Given the description of an element on the screen output the (x, y) to click on. 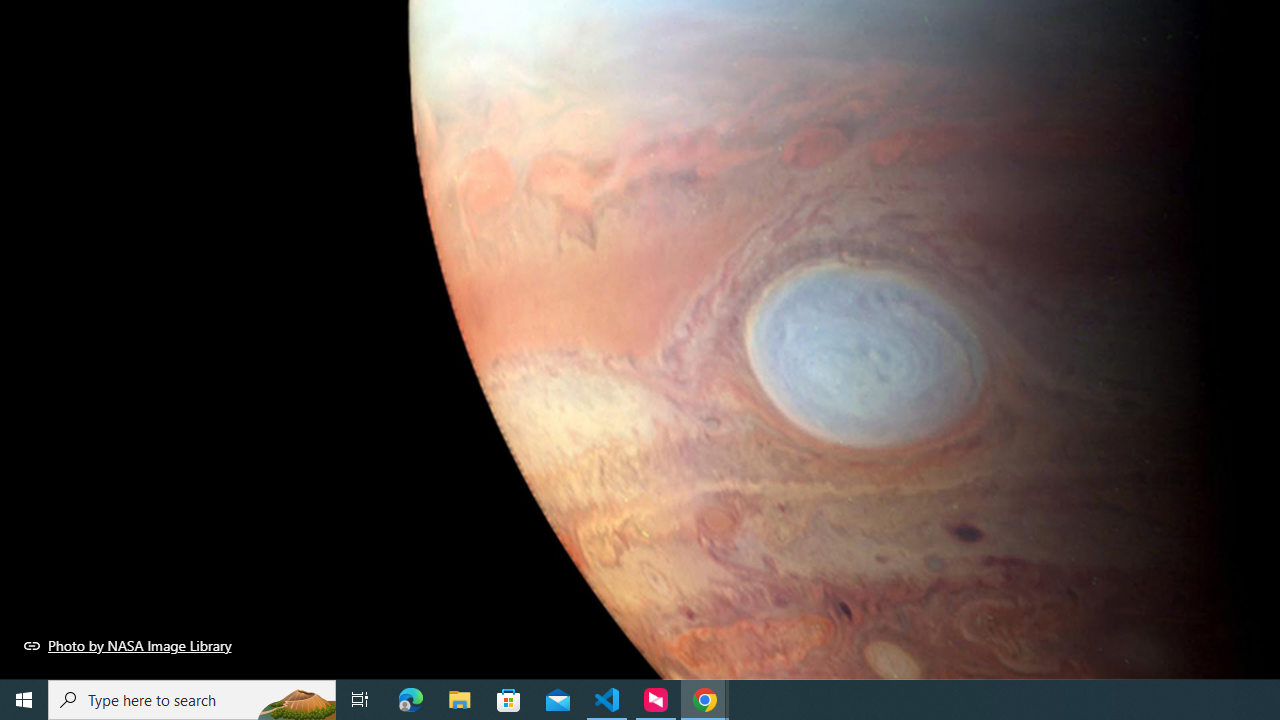
Photo by NASA Image Library (127, 645)
